Given the description of an element on the screen output the (x, y) to click on. 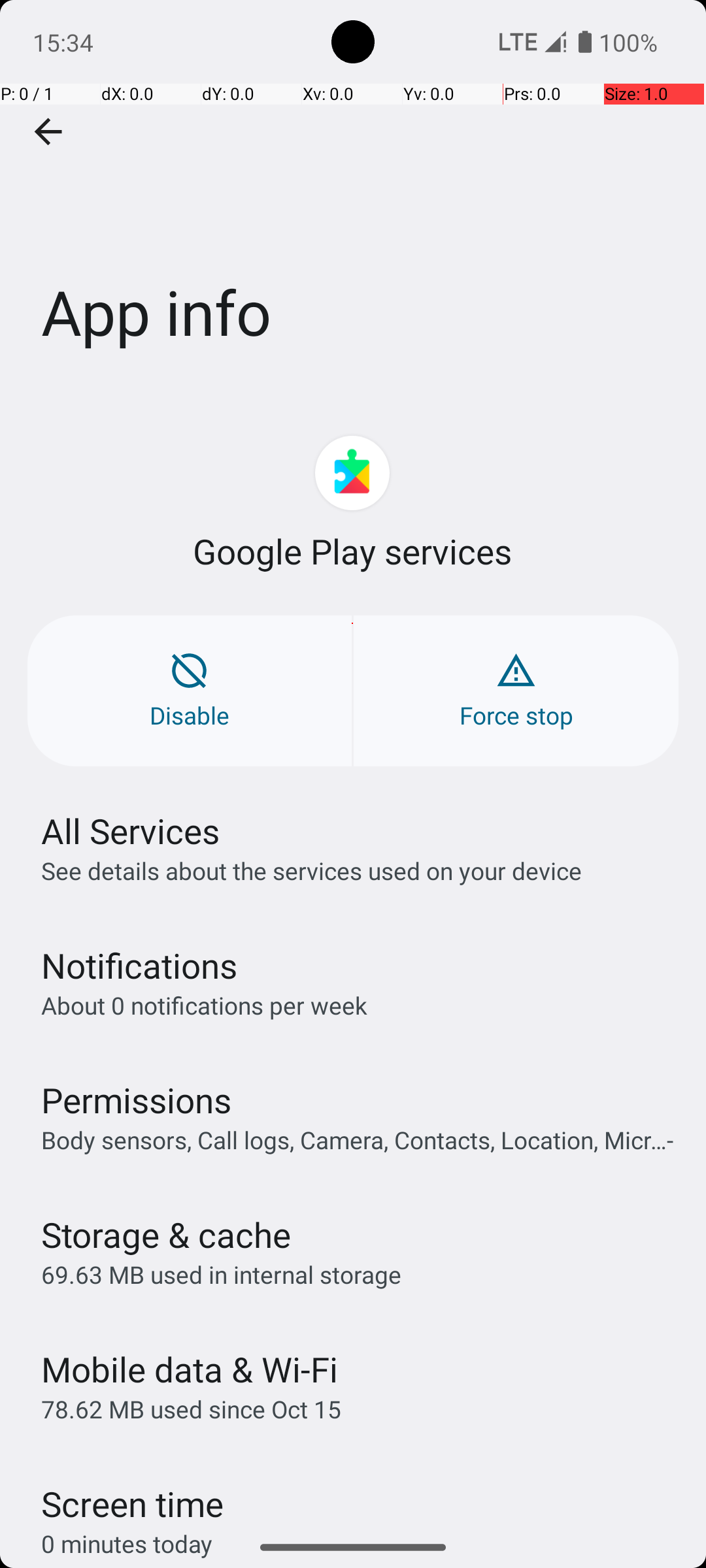
All Services Element type: android.widget.TextView (130, 830)
See details about the services used on your device Element type: android.widget.TextView (311, 870)
Body sensors, Call logs, Camera, Contacts, Location, Microphone, Music and audio, Nearby devices, Notifications, Phone, Photos and videos, Physical activity, and SMS Element type: android.widget.TextView (359, 1139)
69.63 MB used in internal storage Element type: android.widget.TextView (221, 1273)
78.62 MB used since Oct 15 Element type: android.widget.TextView (191, 1408)
